Given the description of an element on the screen output the (x, y) to click on. 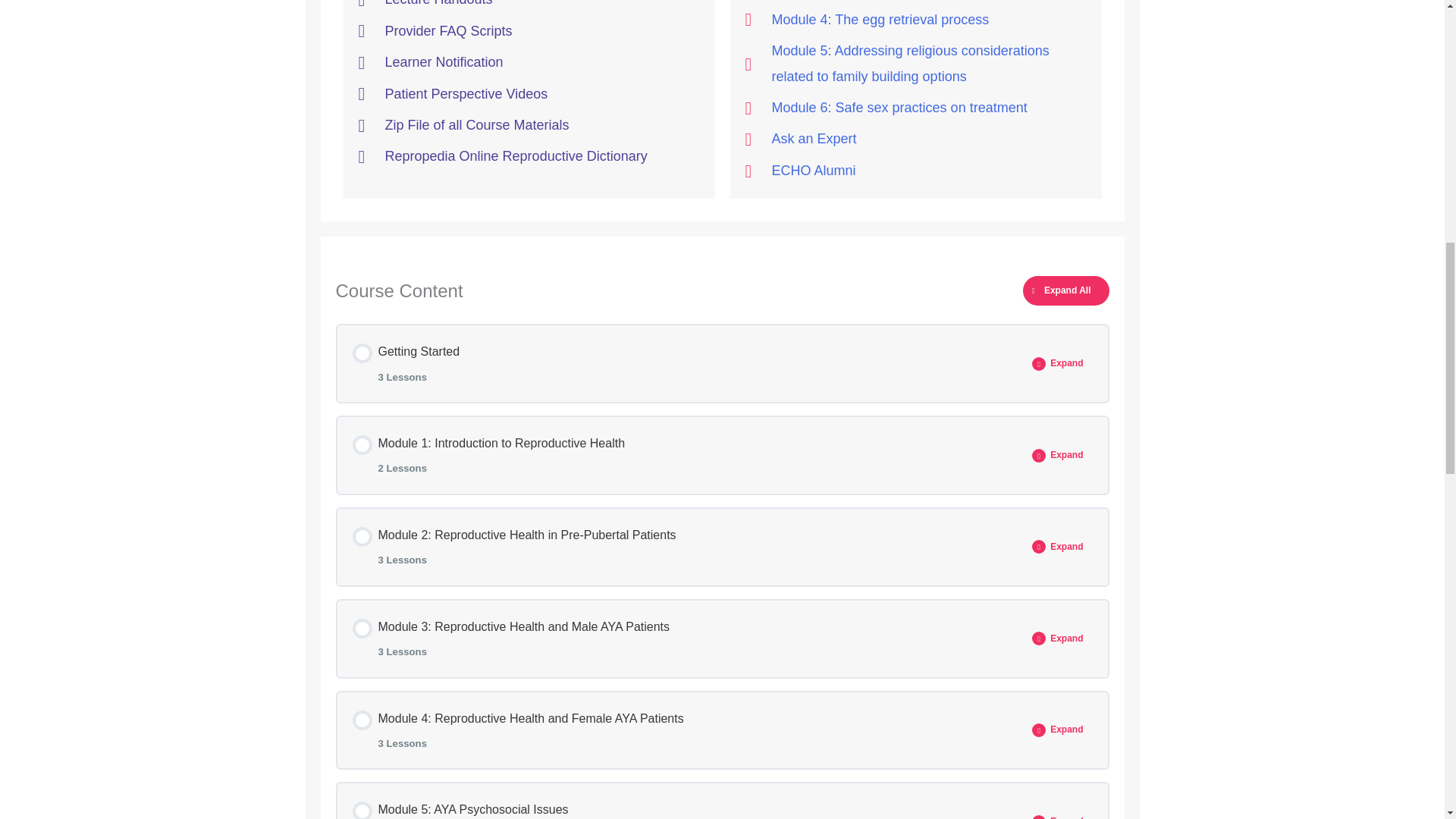
Zip File of all Course Materials (528, 125)
Ask an Expert (915, 138)
Module 4: The egg retrieval process (915, 19)
Provider FAQ Scripts (528, 31)
Patient Perspective Videos (528, 94)
Learner Notification (528, 62)
ECHO Alumni (687, 363)
Module 6: Safe sex practices on treatment (915, 170)
Repropedia Online Reproductive Dictionary (915, 107)
Lecture Handouts (528, 156)
